Given the description of an element on the screen output the (x, y) to click on. 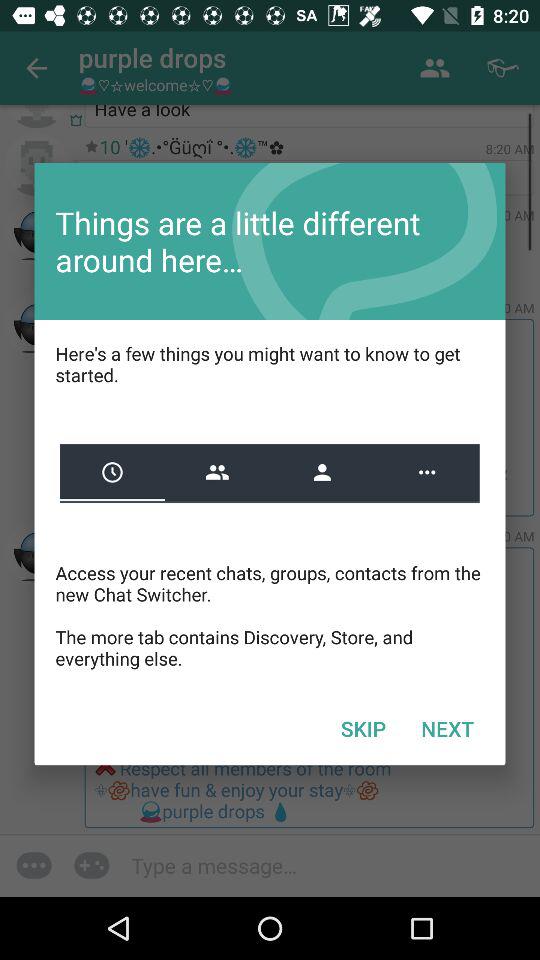
press skip item (363, 728)
